Given the description of an element on the screen output the (x, y) to click on. 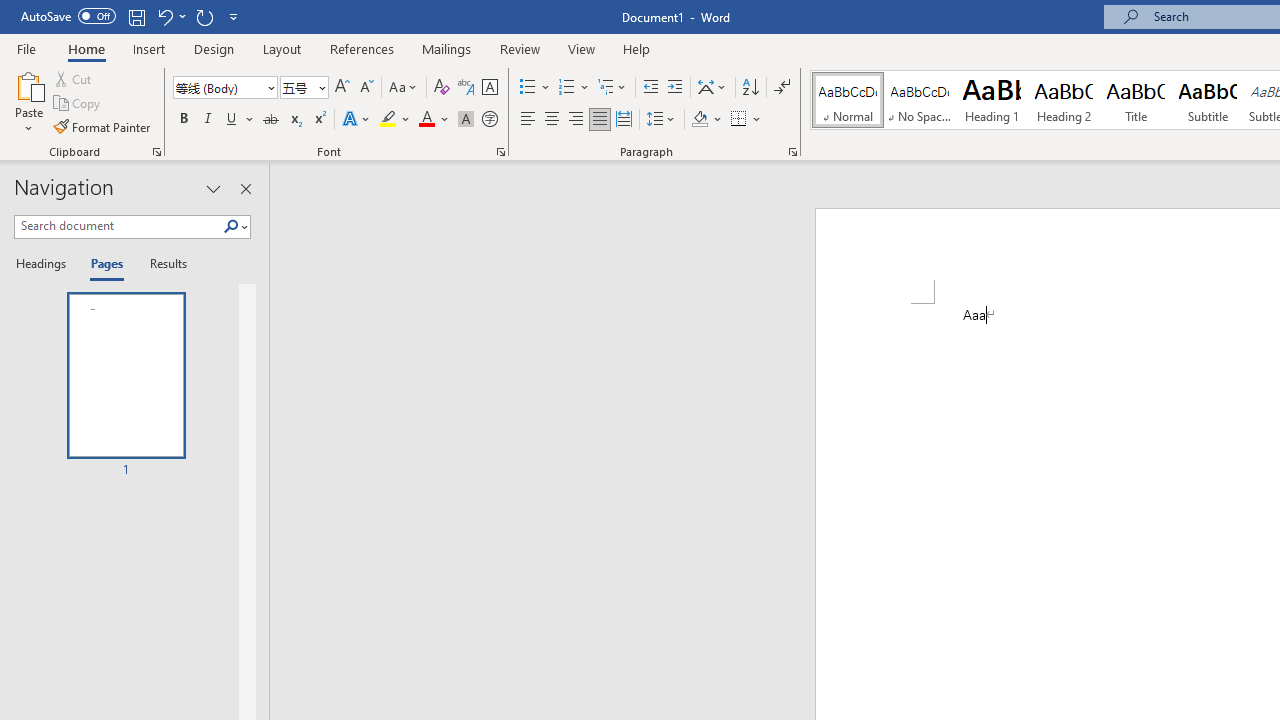
Font Size (297, 87)
Font... (500, 151)
Clear Formatting (442, 87)
Character Shading (465, 119)
Insert (149, 48)
Text Effects and Typography (357, 119)
Pages (105, 264)
Title (1135, 100)
Multilevel List (613, 87)
Search document (118, 226)
Numbering (566, 87)
Office Clipboard... (156, 151)
Phonetic Guide... (465, 87)
Repeat Increase Indent (204, 15)
Font Color (434, 119)
